Given the description of an element on the screen output the (x, y) to click on. 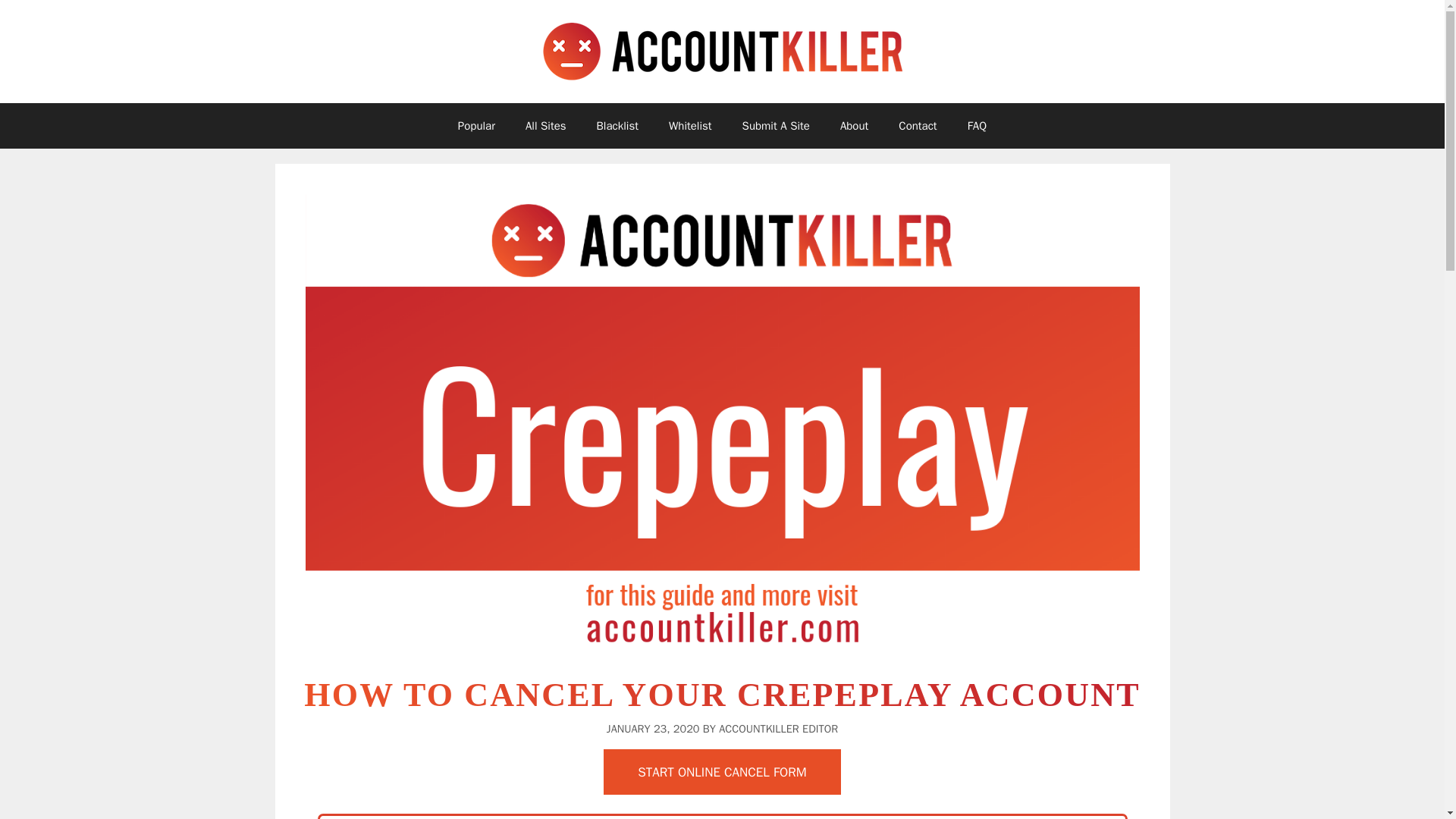
FAQ (976, 125)
About (854, 125)
Blacklist (616, 125)
ACCOUNTKILLER EDITOR (778, 728)
Popular (476, 125)
Submit A Site (775, 125)
Whitelist (689, 125)
All Sites (545, 125)
START ONLINE CANCEL FORM (722, 771)
Contact (917, 125)
